Given the description of an element on the screen output the (x, y) to click on. 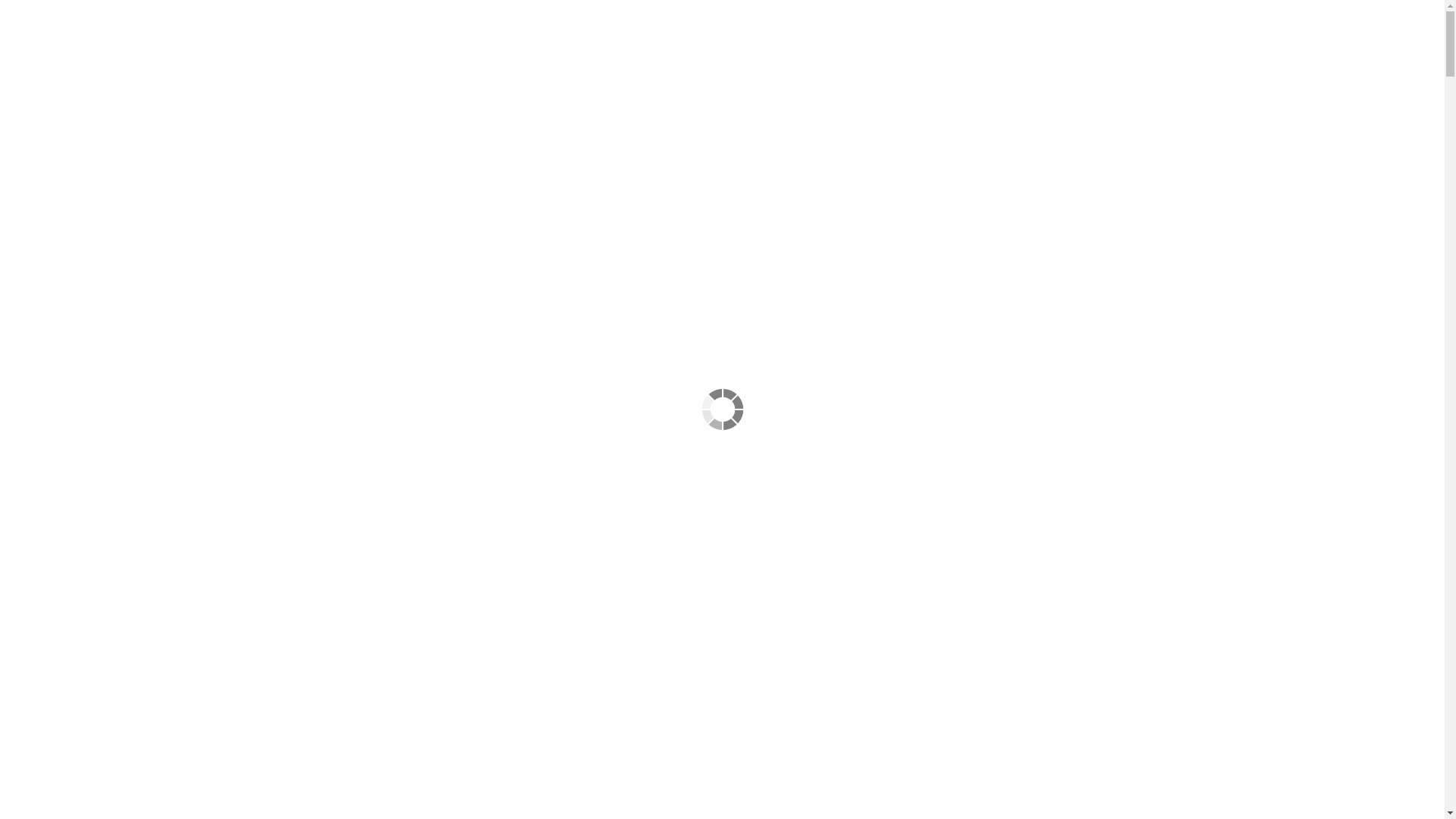
Inschrijven Element type: text (336, 680)
Lid worden Element type: text (1065, 35)
@hoc Element type: text (542, 97)
0490 58 25 23 Element type: text (880, 33)
Wie zijn we? Element type: text (665, 97)
Ondernemend Haspengouw Element type: text (796, 97)
XII Element type: text (959, 97)
About Element type: text (595, 97)
Contact Element type: text (1009, 97)
info@athoc.be Element type: text (696, 33)
Events Element type: text (915, 97)
